Given the description of an element on the screen output the (x, y) to click on. 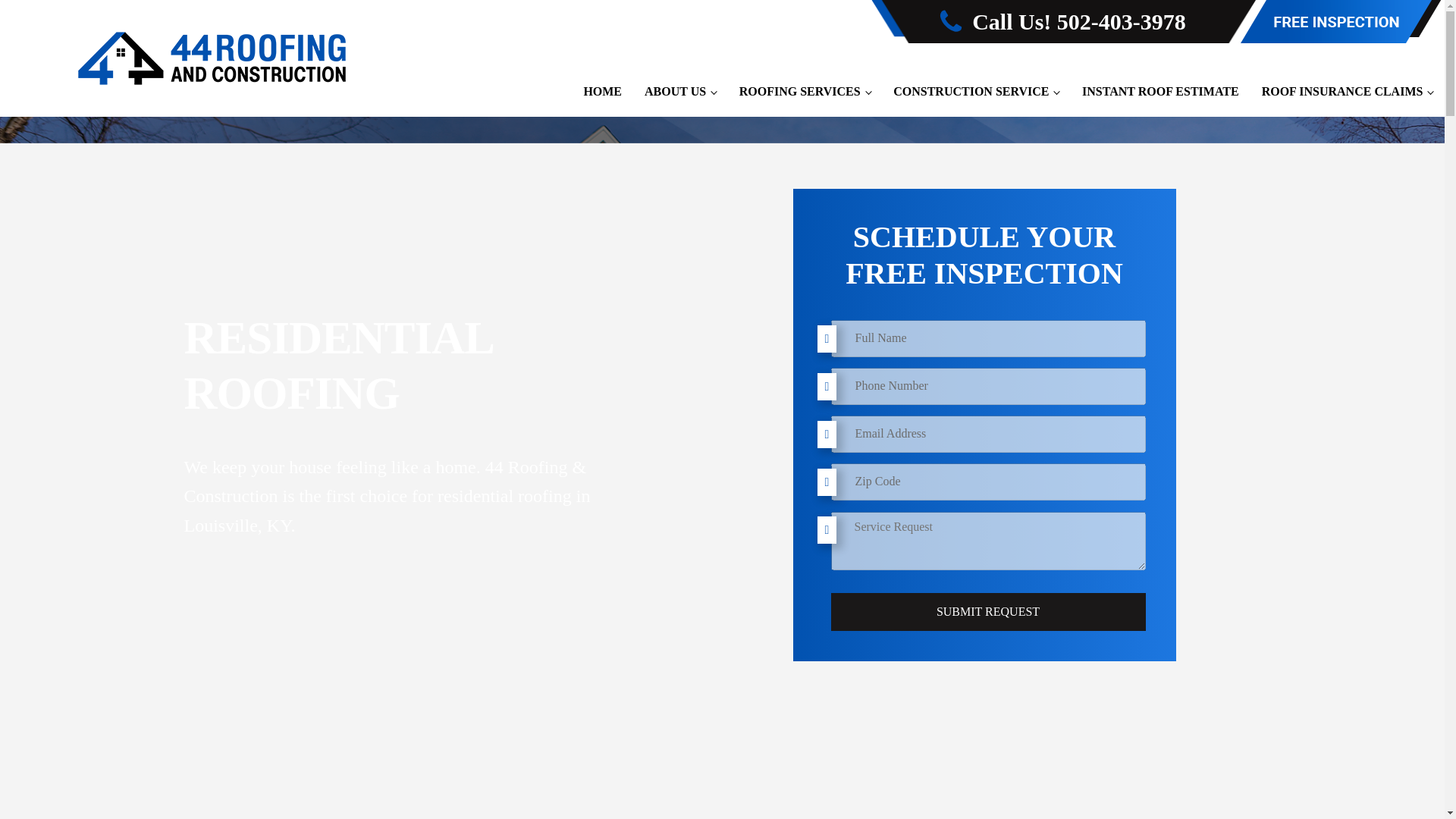
HOME (602, 91)
Call Us! 502-403-3978 (1074, 22)
ABOUT US (680, 91)
SUBMIT REQUEST (988, 611)
CONSTRUCTION SERVICE (976, 91)
INSTANT ROOF ESTIMATE (1160, 91)
ROOFING SERVICES (805, 91)
